Given the description of an element on the screen output the (x, y) to click on. 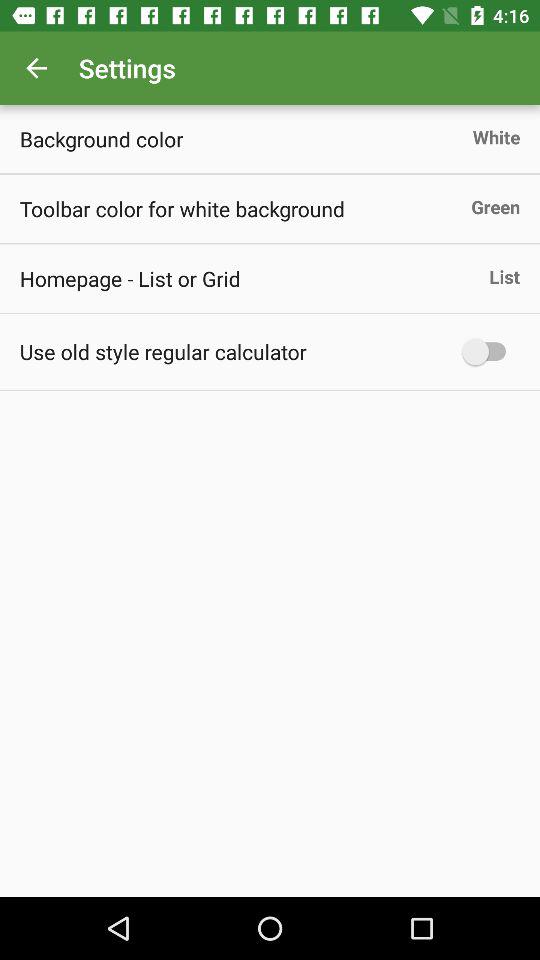
press icon above background color icon (36, 68)
